Given the description of an element on the screen output the (x, y) to click on. 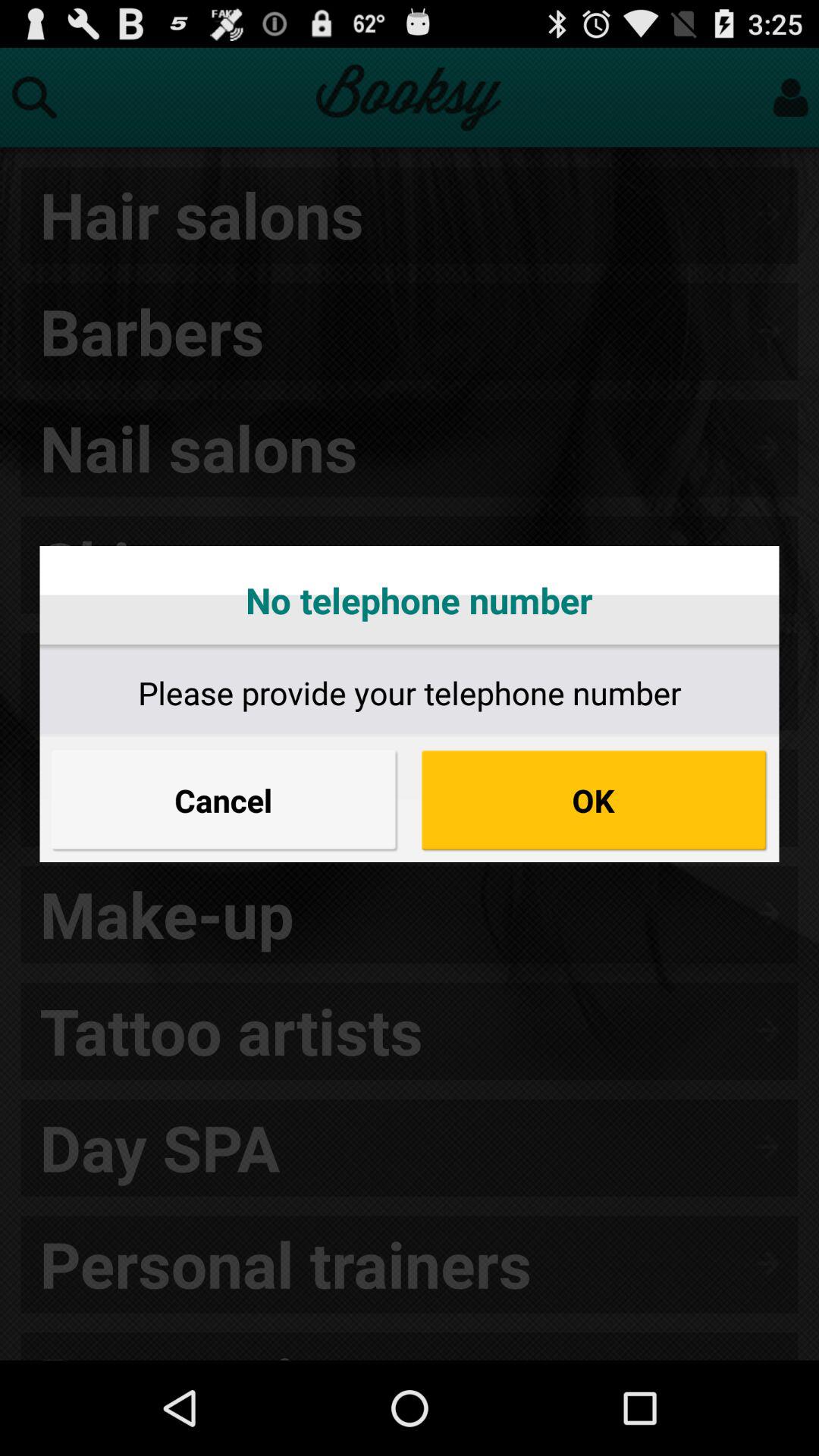
scroll to the cancel icon (224, 799)
